Given the description of an element on the screen output the (x, y) to click on. 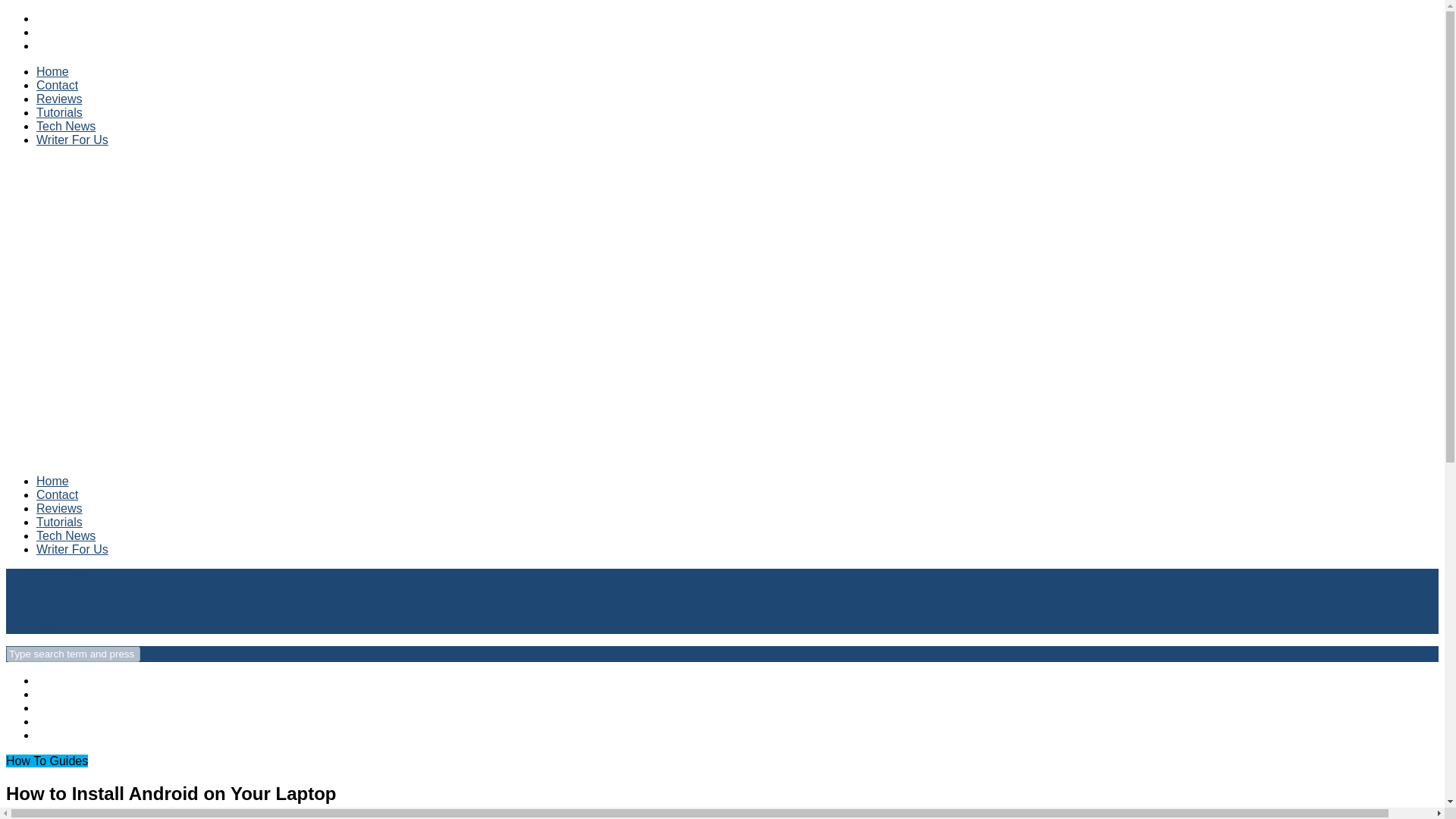
Home (52, 71)
Type search term and press enter (72, 653)
Home (52, 481)
Reviews (58, 98)
Tech News (66, 535)
Tutorials (59, 112)
Tutorials (59, 521)
Reviews (58, 508)
Tech News (66, 125)
